Given the description of an element on the screen output the (x, y) to click on. 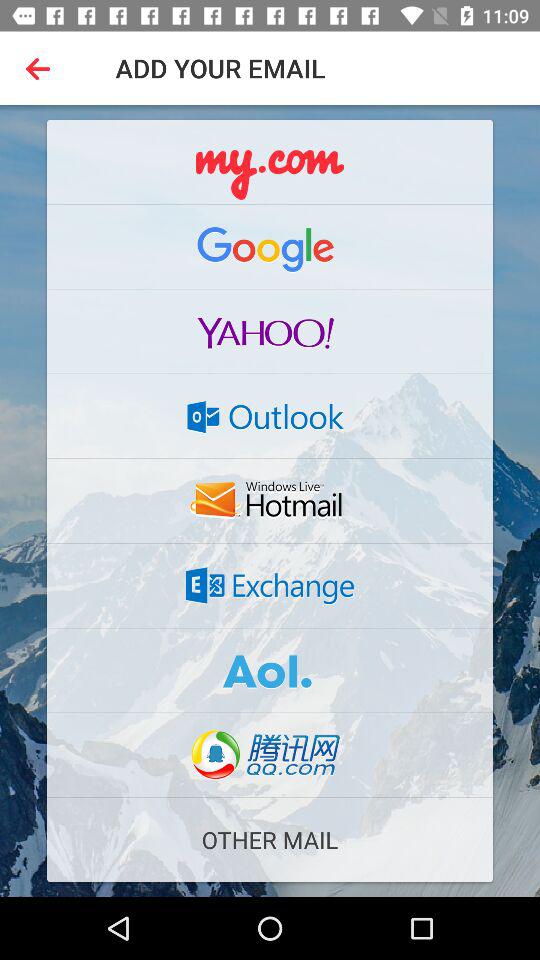
hotmail (269, 501)
